Given the description of an element on the screen output the (x, y) to click on. 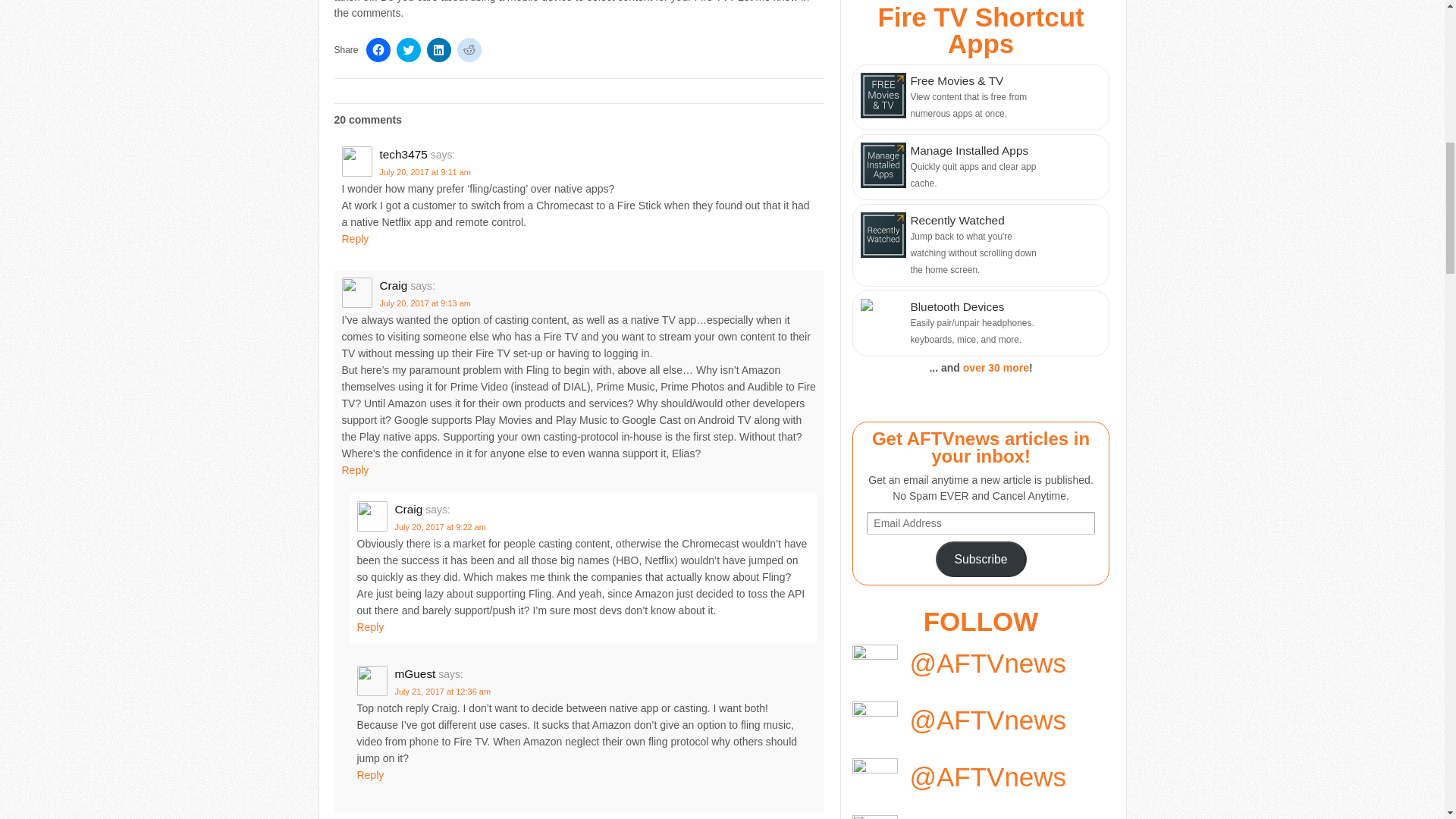
July 20, 2017 at 9:13 am (424, 302)
Click to share on Reddit (469, 49)
Reply (354, 469)
Reply (370, 626)
Reply (370, 775)
Reply (354, 238)
July 20, 2017 at 9:22 am (439, 526)
Free Movies and TV (979, 97)
Manage Installed Apps (979, 166)
Click to share on Facebook (378, 49)
July 20, 2017 at 9:11 am (424, 171)
Click to share on Twitter (408, 49)
July 21, 2017 at 12:36 am (442, 691)
Click to share on LinkedIn (438, 49)
